Given the description of an element on the screen output the (x, y) to click on. 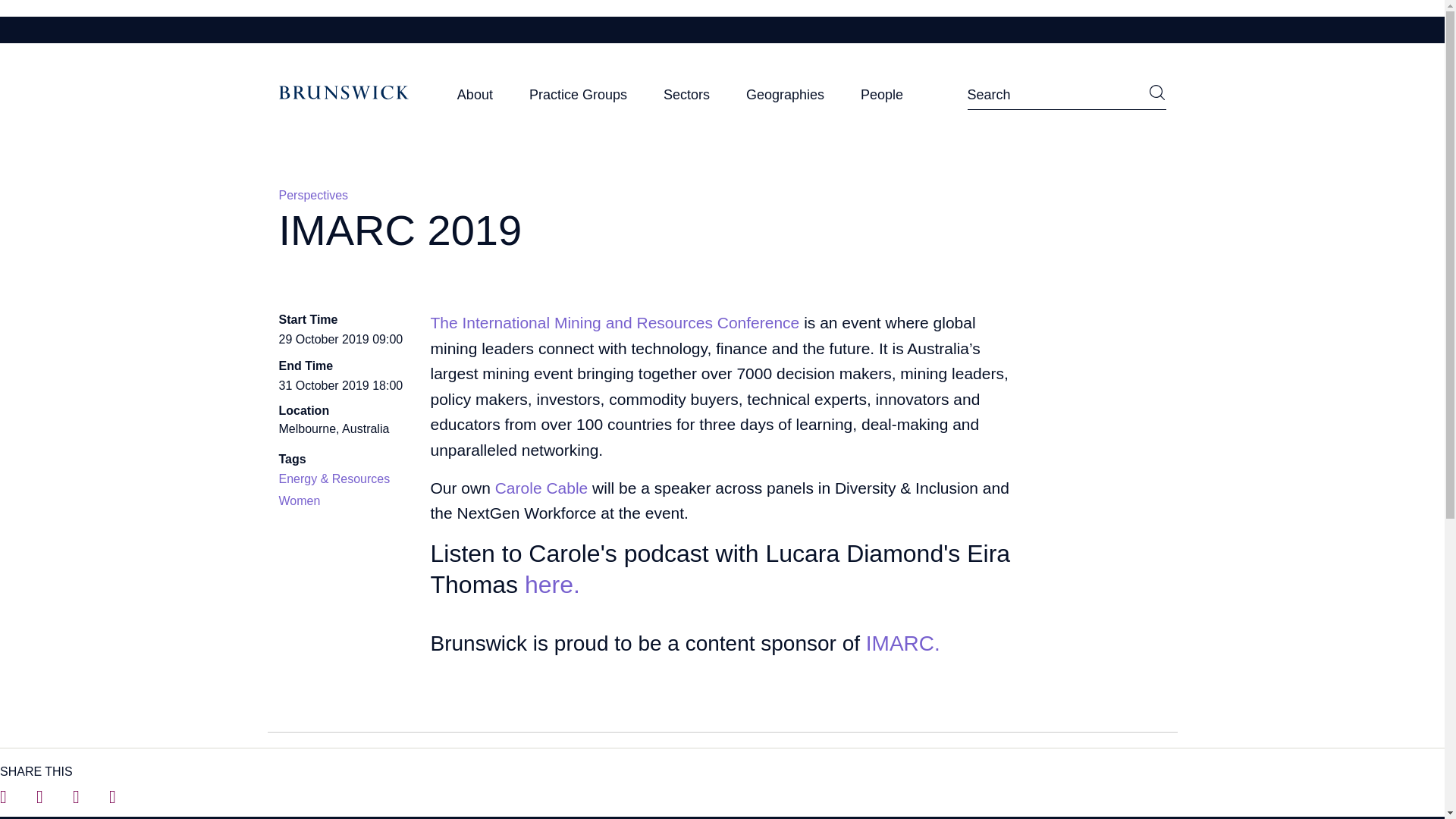
About (474, 97)
About (474, 97)
Sectors (686, 97)
Practice Groups (577, 97)
Practice Groups (577, 97)
